Given the description of an element on the screen output the (x, y) to click on. 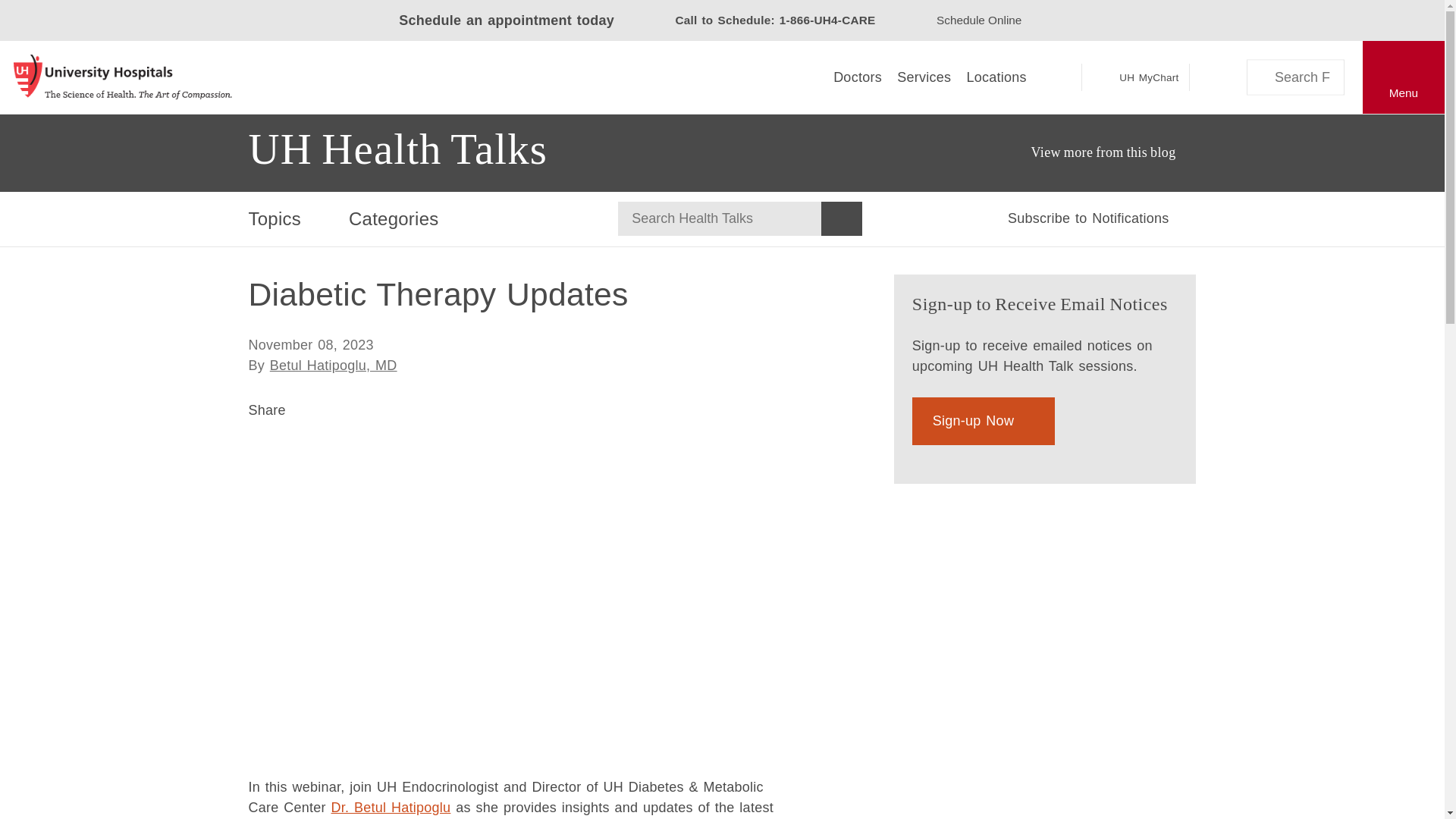
Schedule Online (978, 20)
Call to Schedule: 1-866-UH4-CARE (763, 20)
